Given the description of an element on the screen output the (x, y) to click on. 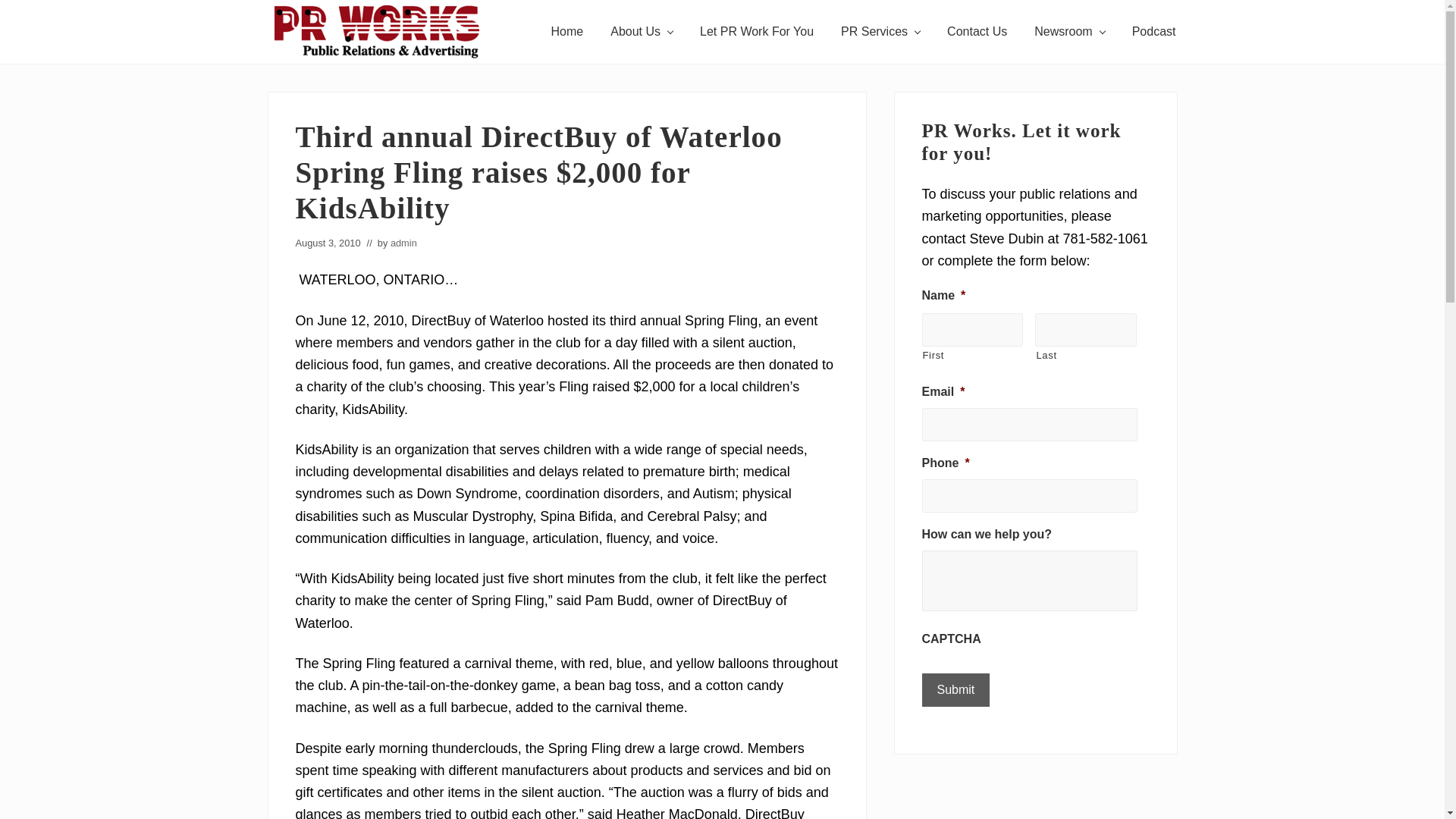
Contact Us (976, 31)
PR Services (879, 31)
Home (566, 31)
Let PR Work For You (756, 31)
Newsroom (1069, 31)
About Us (641, 31)
Submit (955, 689)
